Given the description of an element on the screen output the (x, y) to click on. 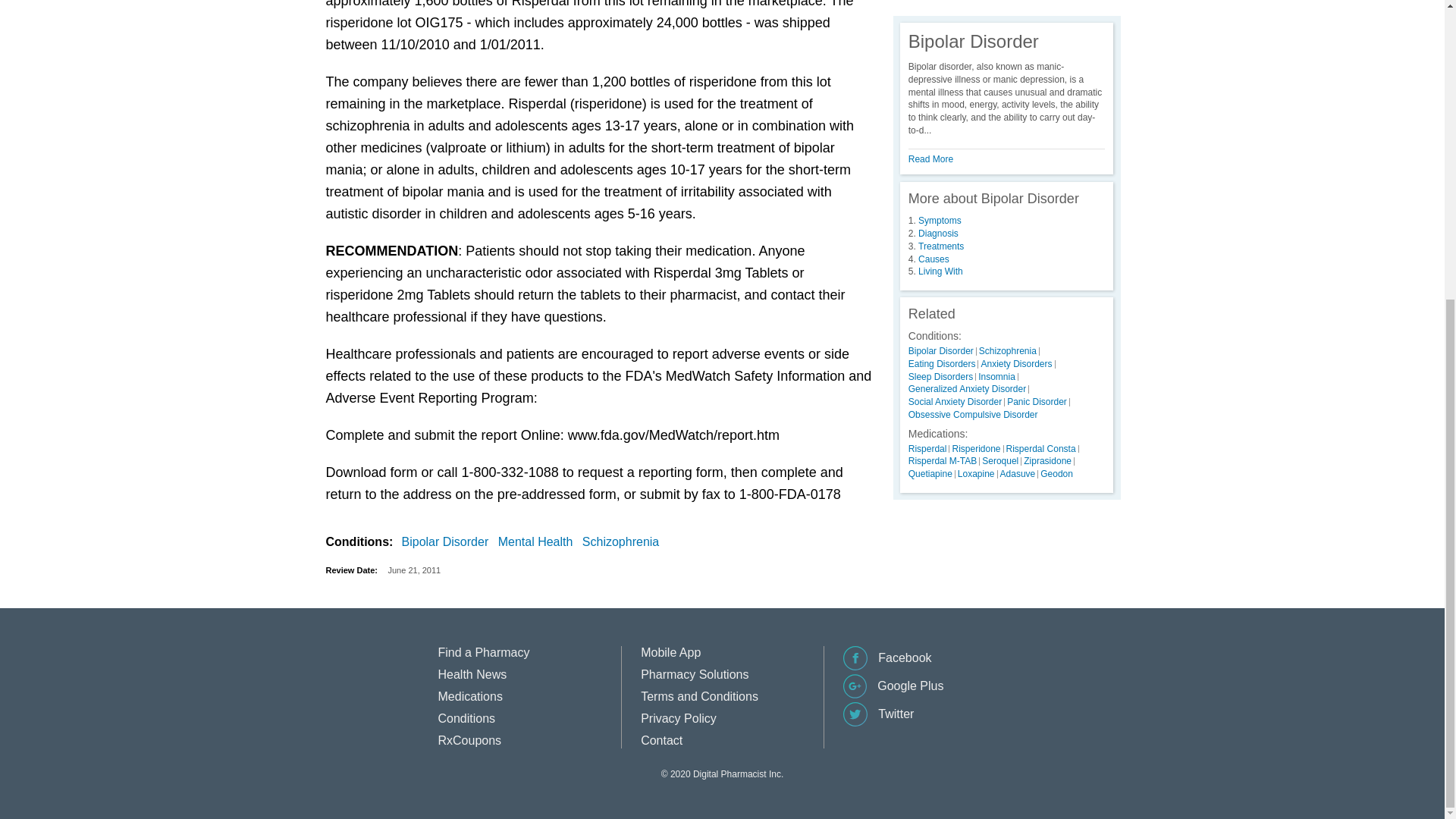
Bipolar Disorder (448, 542)
Schizophrenia (623, 542)
Mental Health (538, 542)
